Given the description of an element on the screen output the (x, y) to click on. 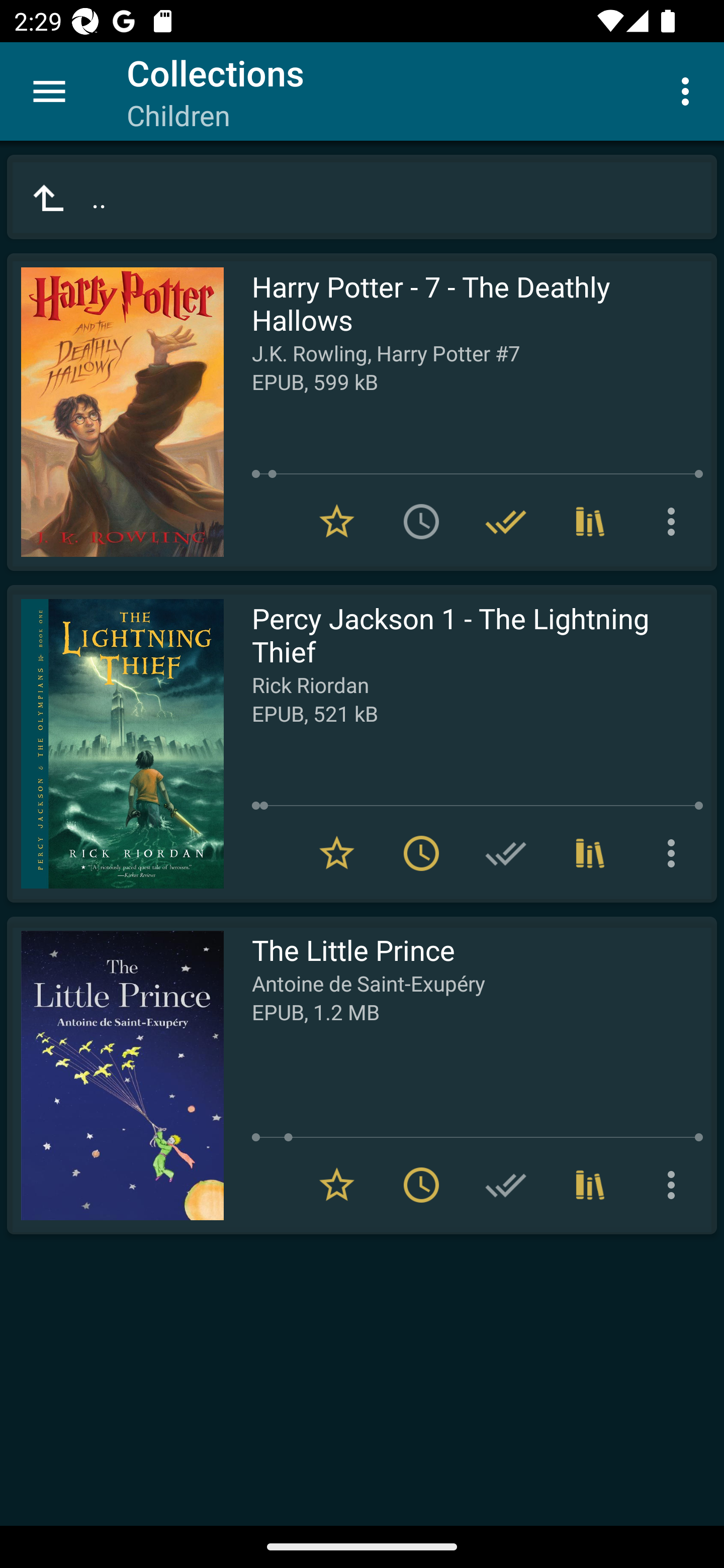
Menu (49, 91)
More options (688, 90)
.. (361, 197)
Read Harry Potter - 7 - The Deathly Hallows (115, 412)
Remove from Favorites (336, 521)
Add to To read (421, 521)
Remove from Have read (505, 521)
Collections (3) (590, 521)
More options (674, 521)
Read Percy Jackson 1 - The Lightning Thief (115, 743)
Remove from Favorites (336, 852)
Remove from To read (421, 852)
Add to Have read (505, 852)
Collections (1) (590, 852)
More options (674, 852)
Read The Little Prince (115, 1075)
Remove from Favorites (336, 1185)
Remove from To read (421, 1185)
Add to Have read (505, 1185)
Collections (1) (590, 1185)
More options (674, 1185)
